Given the description of an element on the screen output the (x, y) to click on. 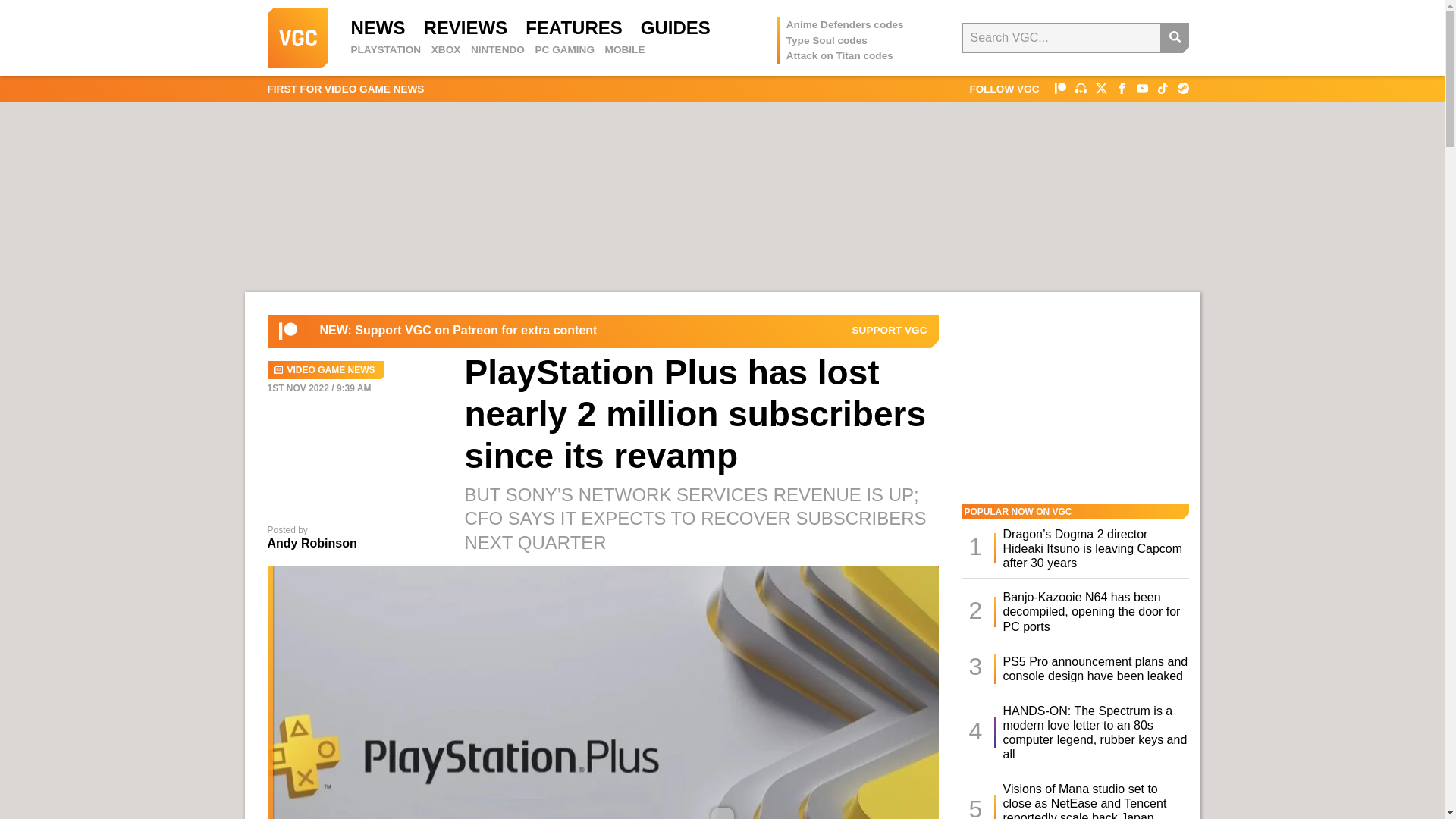
NEW: Support VGC on Patreon for extra content (457, 330)
VGC on Patreon (889, 330)
VGC on Patreon (288, 331)
Posts by Andy Robinson (311, 543)
Attack on Titan codes (839, 55)
PLAYSTATION (385, 49)
MOBILE (625, 49)
Anime Defenders codes (845, 24)
REVIEWS (464, 27)
VIDEO GAME NEWS (325, 370)
